Given the description of an element on the screen output the (x, y) to click on. 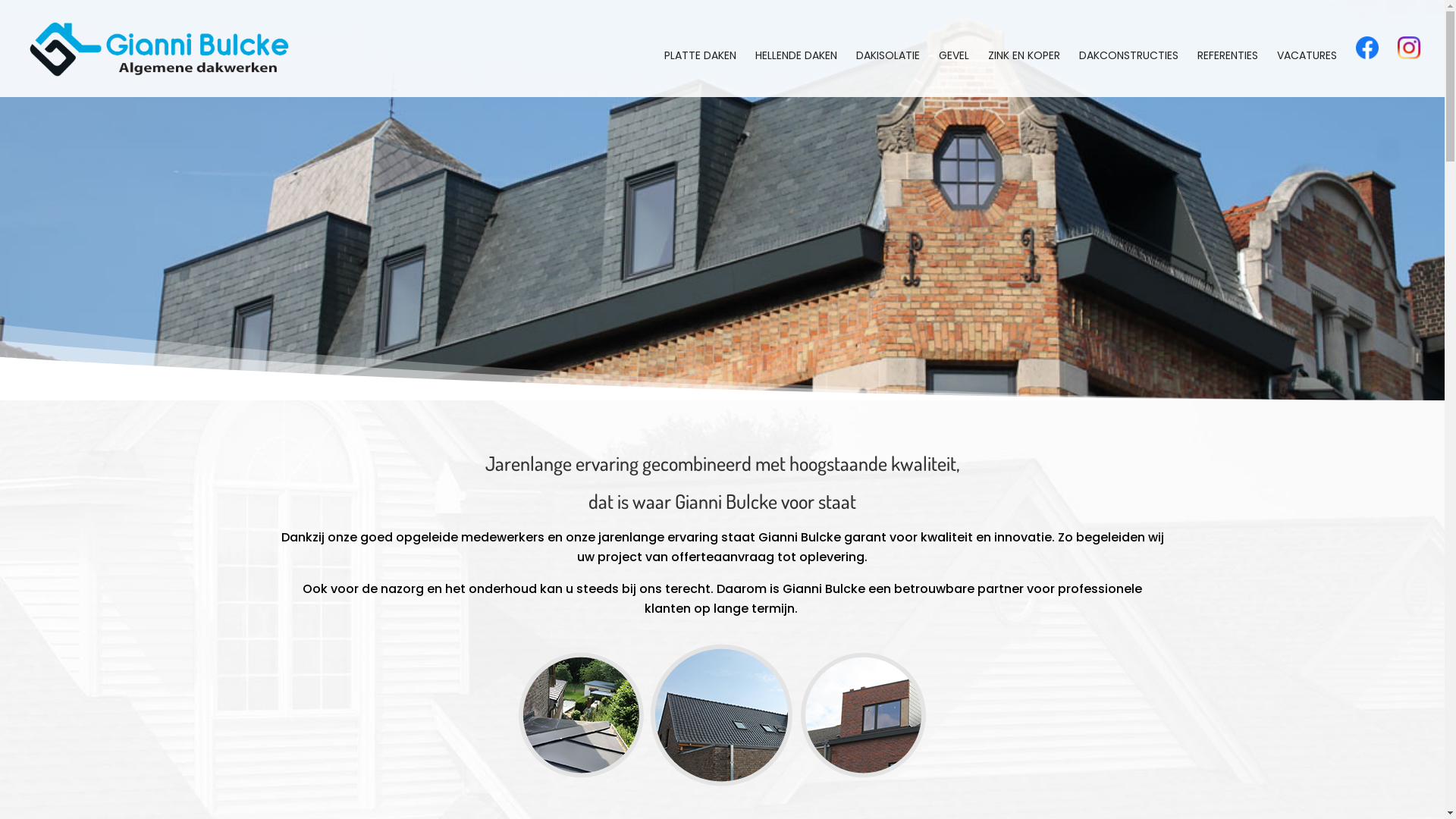
REFERENTIES Element type: text (1227, 73)
DAKISOLATIE Element type: text (887, 73)
VACATURES Element type: text (1306, 73)
GEVEL Element type: text (953, 73)
PLATTE DAKEN Element type: text (700, 73)
DAKCONSTRUCTIES Element type: text (1128, 73)
HELLENDE DAKEN Element type: text (796, 73)
ZINK EN KOPER Element type: text (1024, 73)
